Given the description of an element on the screen output the (x, y) to click on. 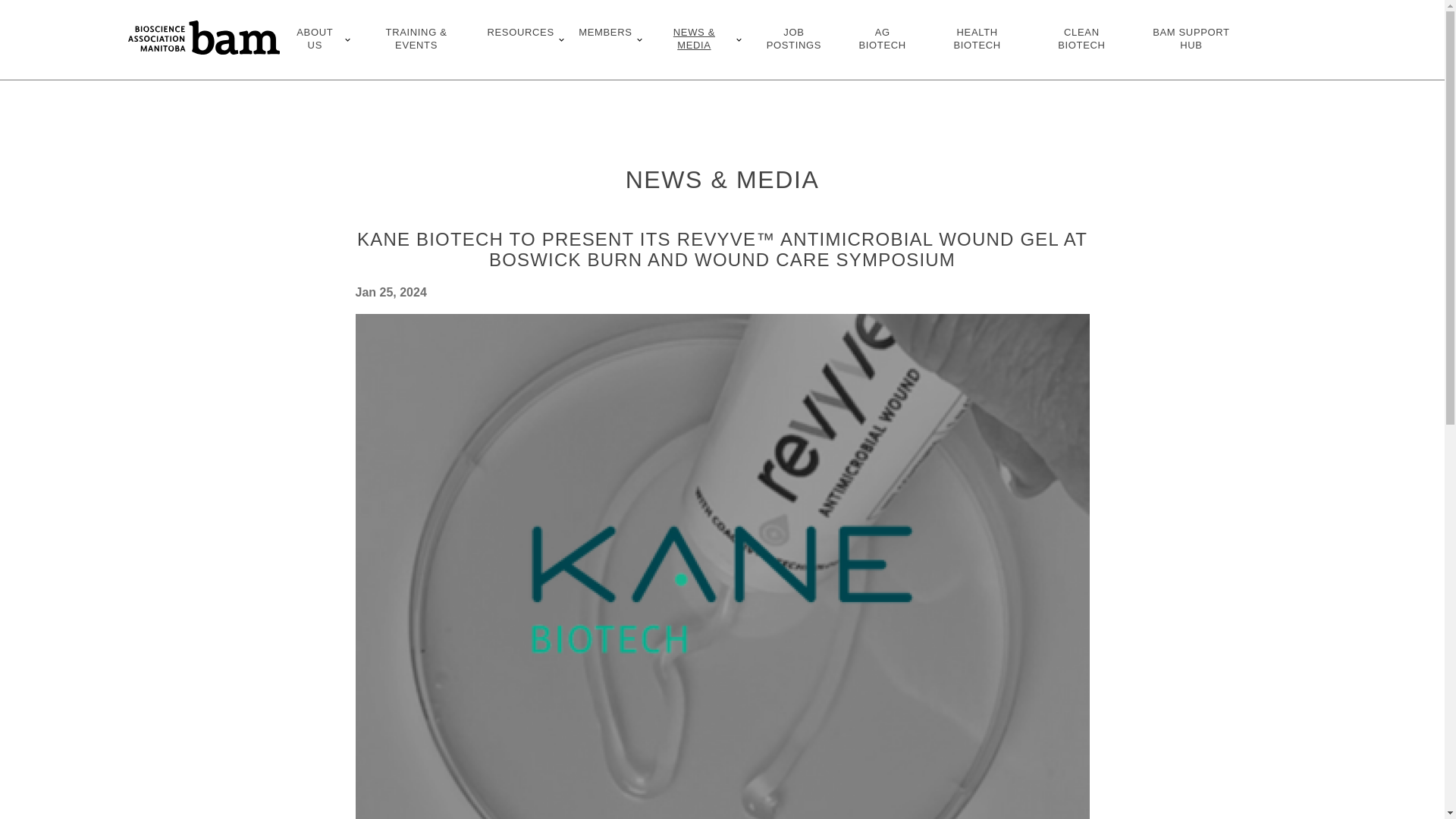
Publish date (722, 292)
CLEAN BIOTECH (1081, 39)
AG BIOTECH (882, 39)
Contact (1273, 49)
Bioscience Association Manitoba (203, 39)
ABOUT US (317, 39)
MEMBERS (607, 39)
RESOURCES (523, 39)
BAM SUPPORT HUB (1190, 39)
Search Site (1273, 30)
JOB POSTINGS (793, 39)
Skip to Navigation (20, 17)
HEALTH BIOTECH (976, 39)
